Given the description of an element on the screen output the (x, y) to click on. 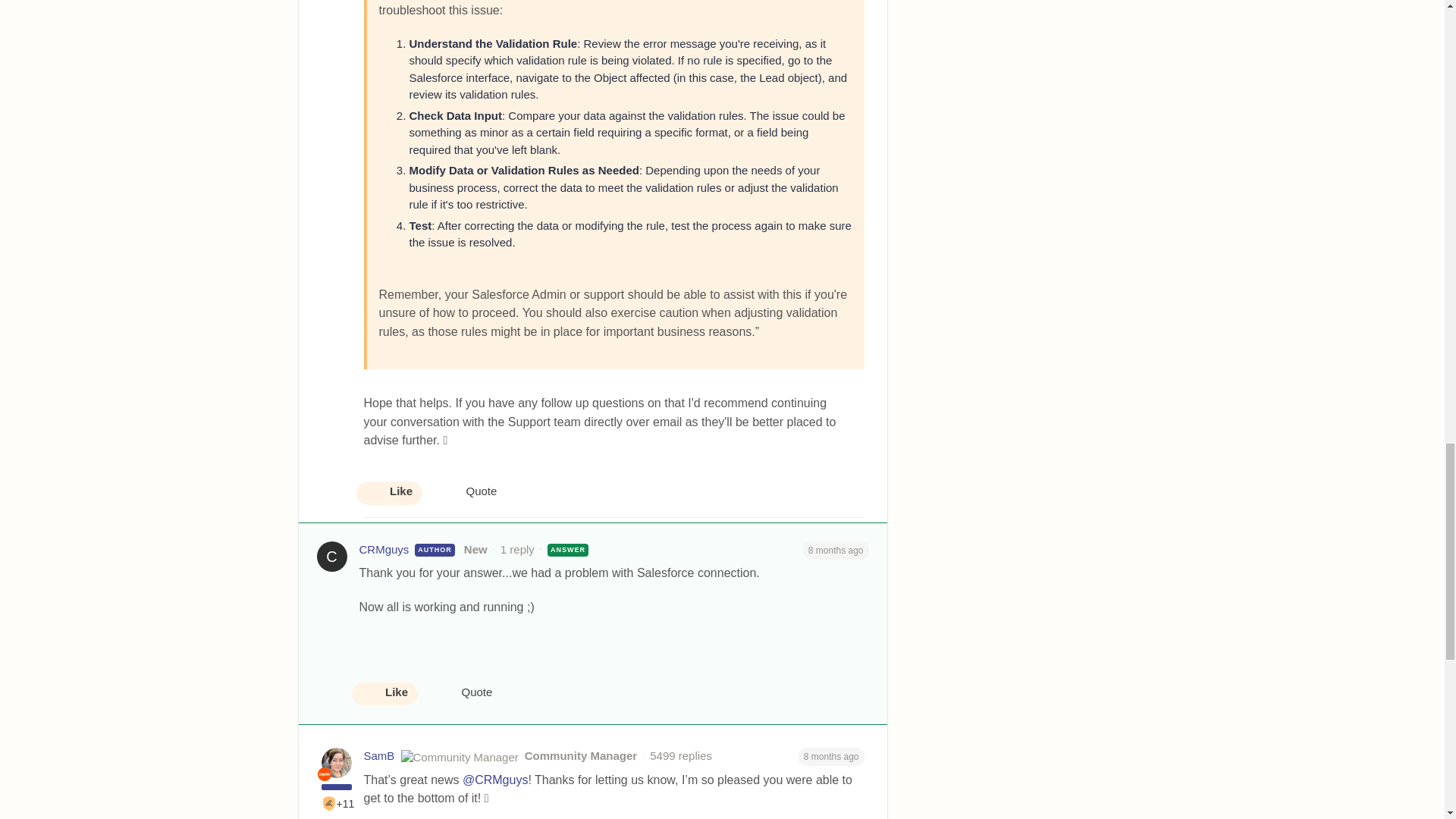
Community Manager (323, 774)
SamB (379, 755)
First Best Answer (328, 803)
CRMguys (384, 549)
